Given the description of an element on the screen output the (x, y) to click on. 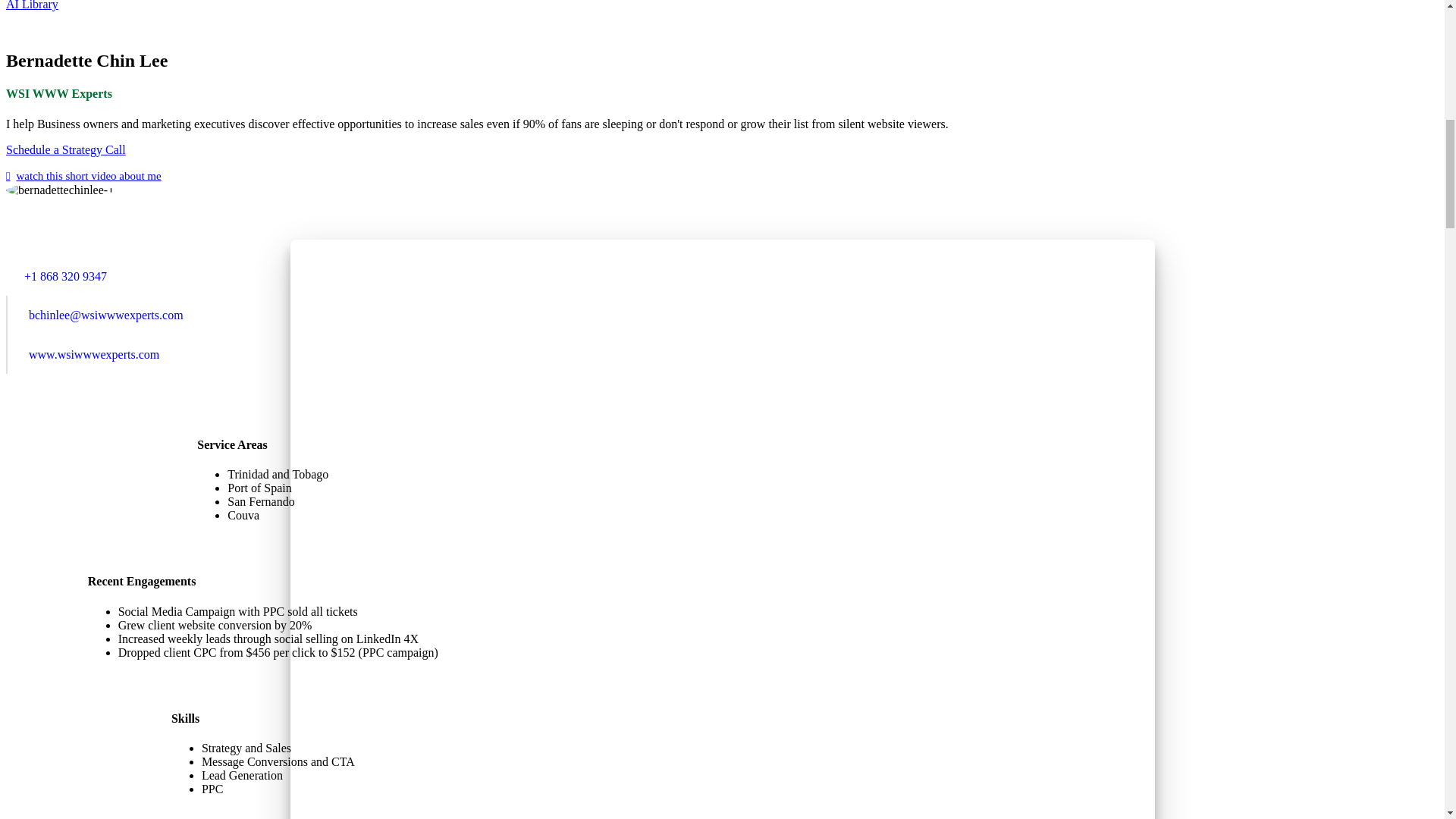
watch this short video about me (83, 175)
www.wsiwwwexperts.com (245, 353)
Schedule a Strategy Call (65, 149)
AI Library (31, 5)
